Given the description of an element on the screen output the (x, y) to click on. 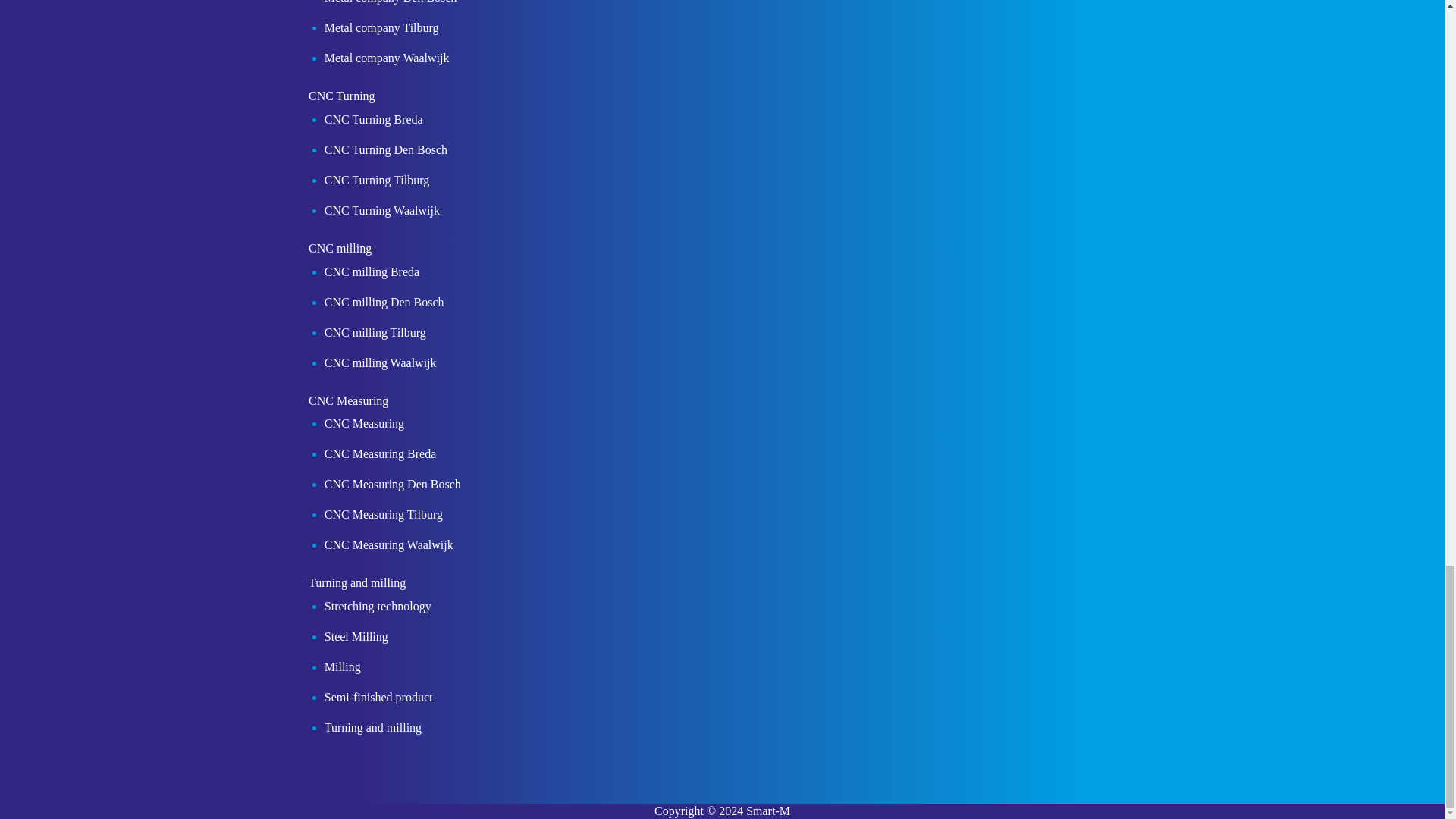
CNC milling (334, 251)
CNC Turning (336, 99)
CNC Measuring (342, 403)
Turning and milling (351, 586)
